Given the description of an element on the screen output the (x, y) to click on. 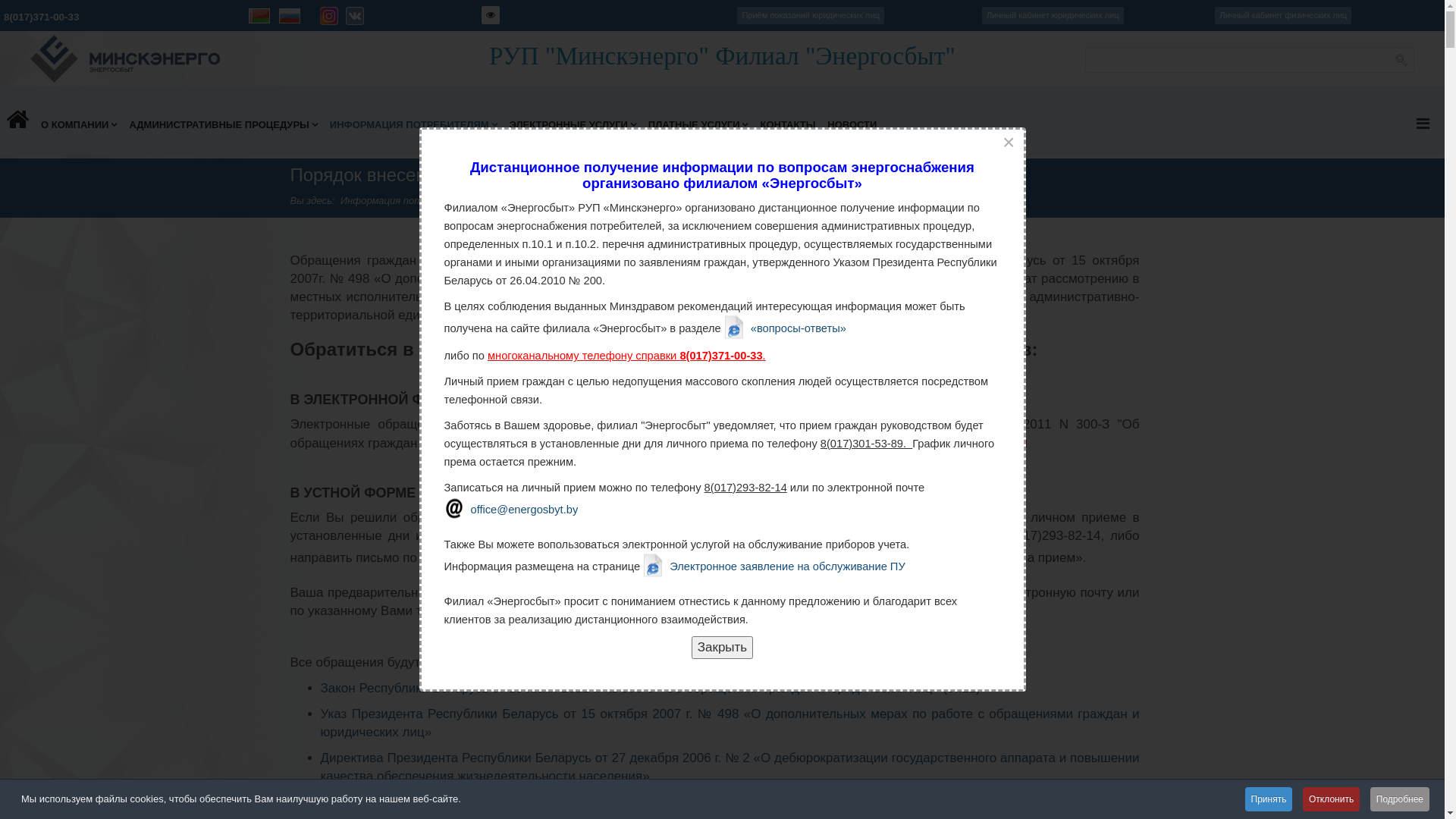
office@energosbyt.by Element type: text (613, 556)
office@energosbyt.by Element type: text (511, 508)
1 Element type: text (665, 283)
